Given the description of an element on the screen output the (x, y) to click on. 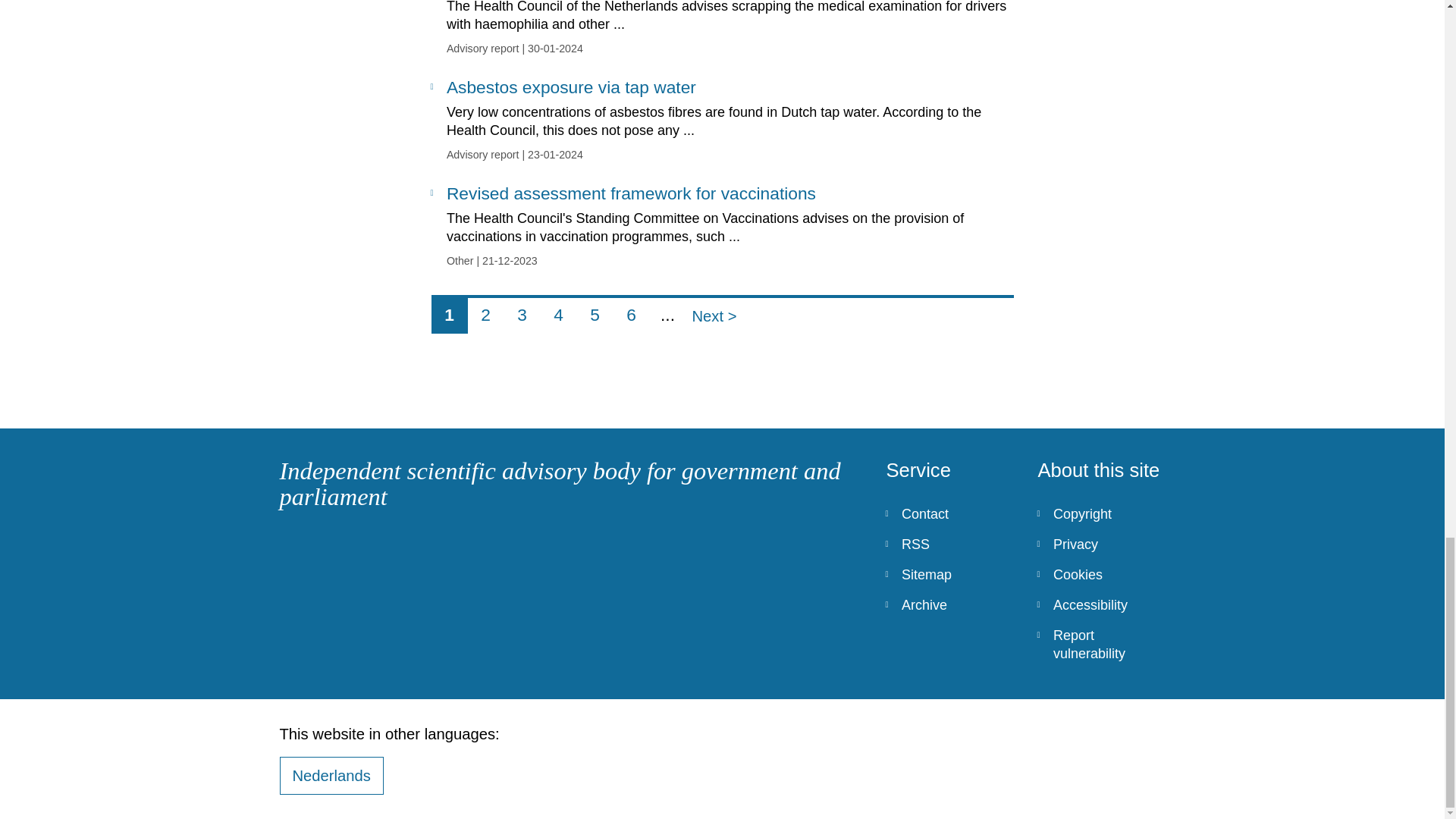
RSS (949, 544)
Nederlands (330, 775)
Privacy (630, 315)
Contact (1100, 544)
Sitemap (949, 513)
Archive (949, 574)
Report vulnerability (949, 604)
